Given the description of an element on the screen output the (x, y) to click on. 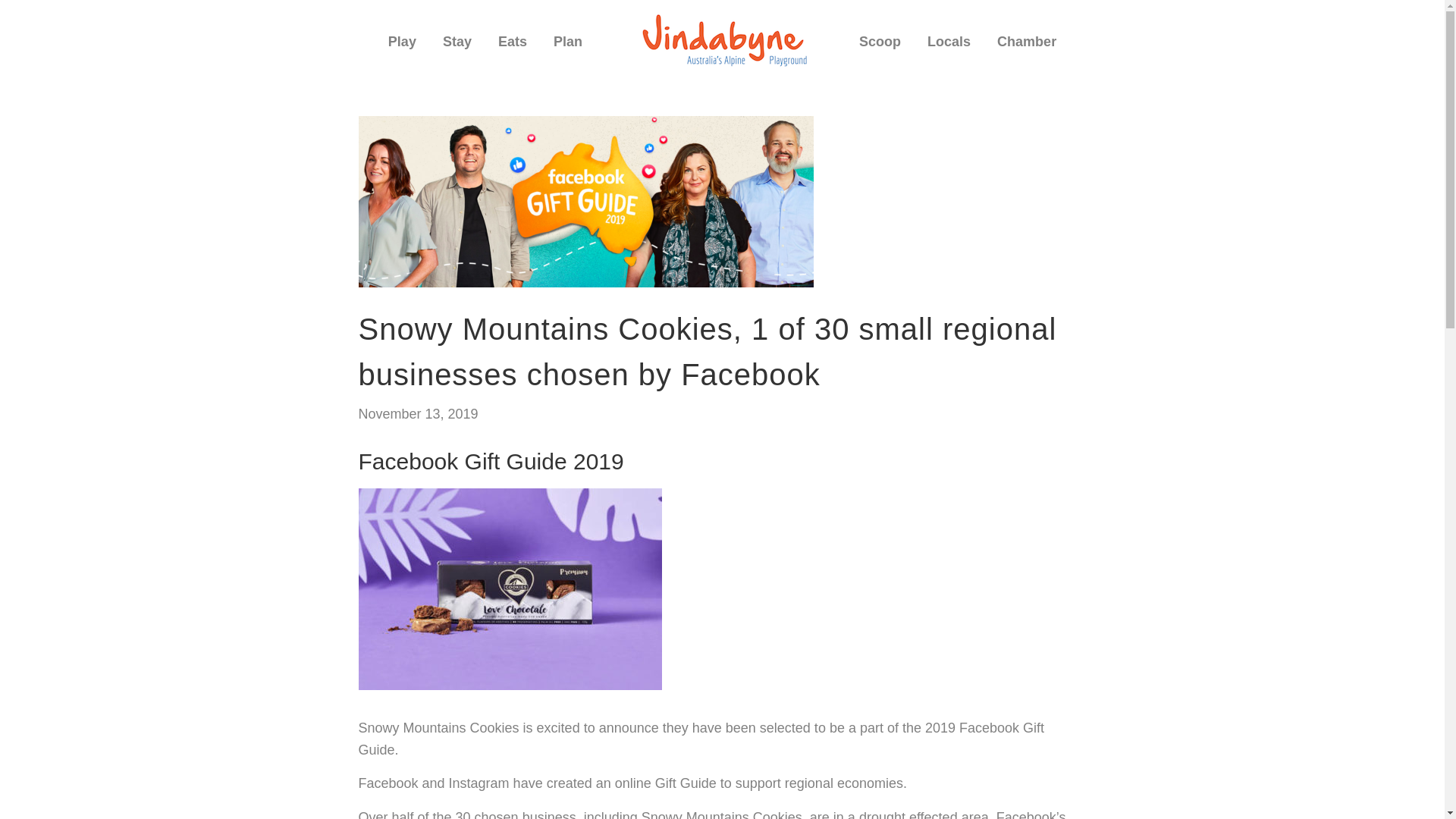
Eats Element type: text (512, 48)
Locals Element type: text (949, 41)
Stay Element type: text (457, 48)
Scoop Element type: text (879, 48)
Play Element type: text (401, 48)
Chamber Element type: text (1026, 48)
Plan Element type: text (567, 48)
